Given the description of an element on the screen output the (x, y) to click on. 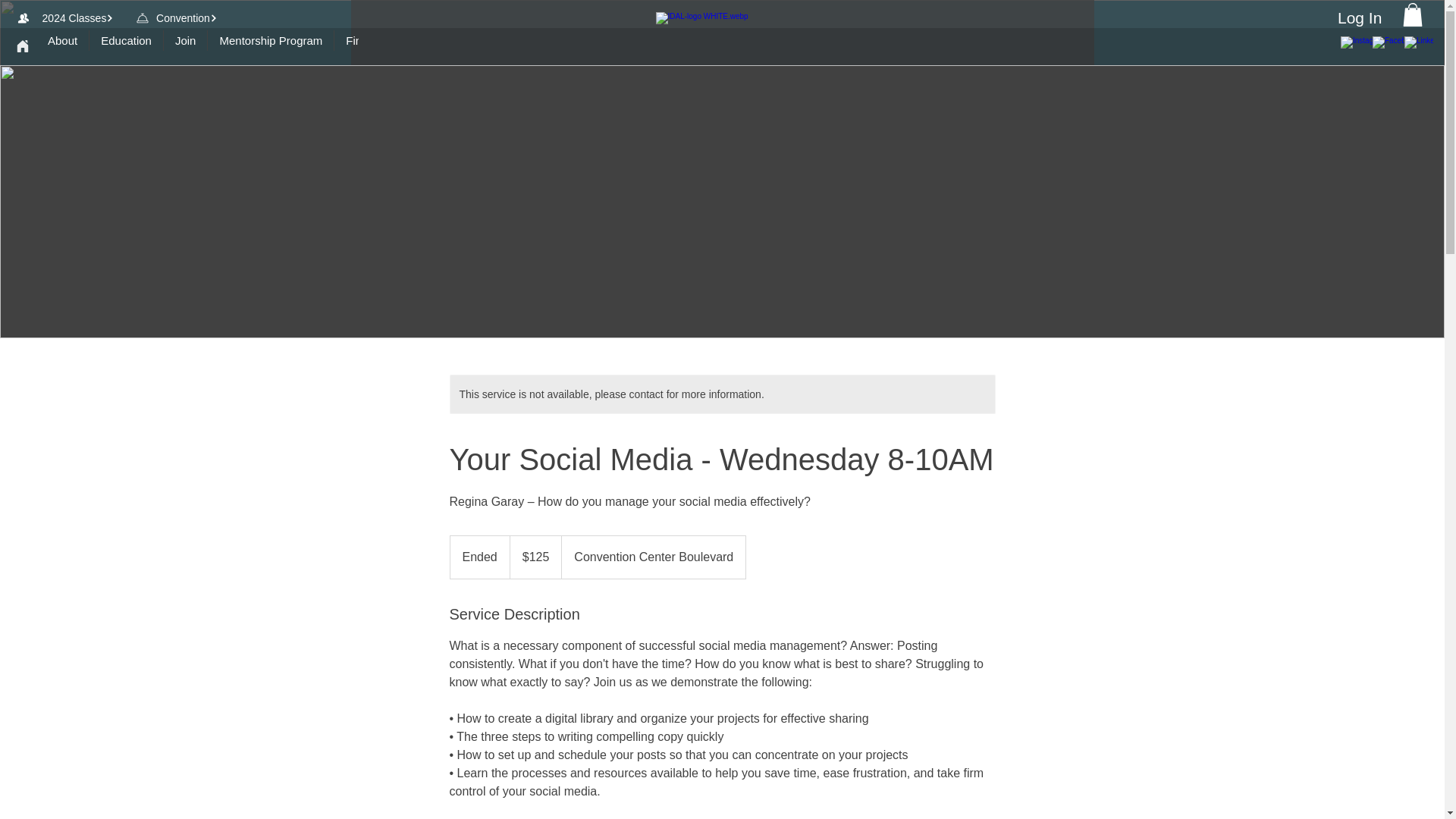
Convention (186, 18)
2024 Classes (77, 18)
Join (185, 46)
About (62, 46)
Log In (1345, 17)
International Decorative Artisans League (721, 36)
Find A Pro (371, 46)
Mentorship Program (269, 46)
